Given the description of an element on the screen output the (x, y) to click on. 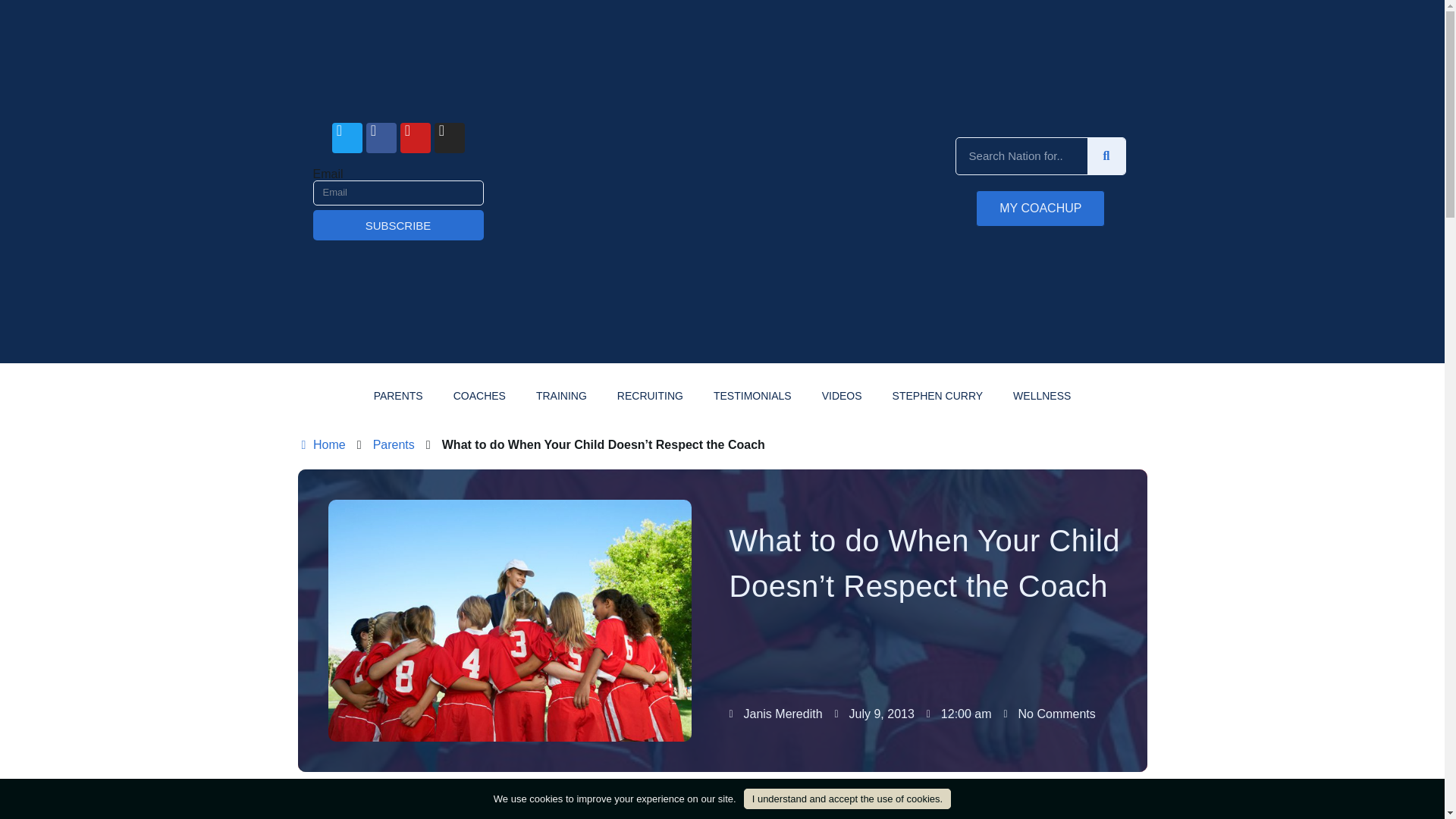
SUBSCRIBE (398, 224)
VIDEOS (841, 395)
PARENTS (398, 395)
STEPHEN CURRY (937, 395)
RECRUITING (650, 395)
MY COACHUP (1040, 207)
TRAINING (561, 395)
COACHES (479, 395)
TESTIMONIALS (752, 395)
WELLNESS (1041, 395)
